Given the description of an element on the screen output the (x, y) to click on. 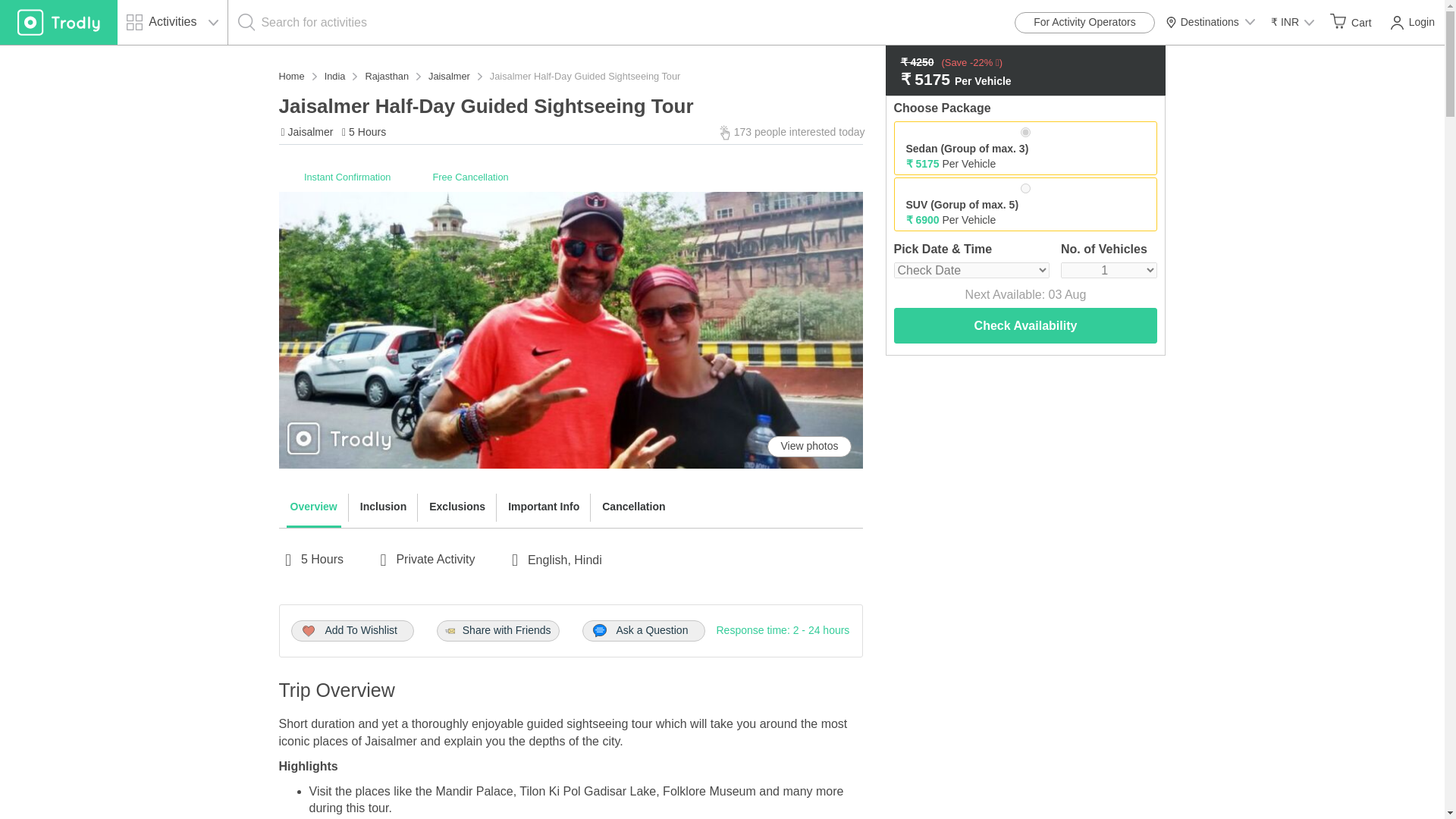
See your trip details (1349, 21)
Overview (313, 507)
Rajasthan (387, 76)
5554 (1025, 188)
For Activity Operators (1084, 22)
Destinations (1210, 22)
Login (1410, 22)
Home (291, 76)
Exclusions (457, 507)
Jaisalmer (449, 76)
India (335, 76)
5553 (1025, 132)
View photos (808, 446)
Inclusion (383, 507)
